Given the description of an element on the screen output the (x, y) to click on. 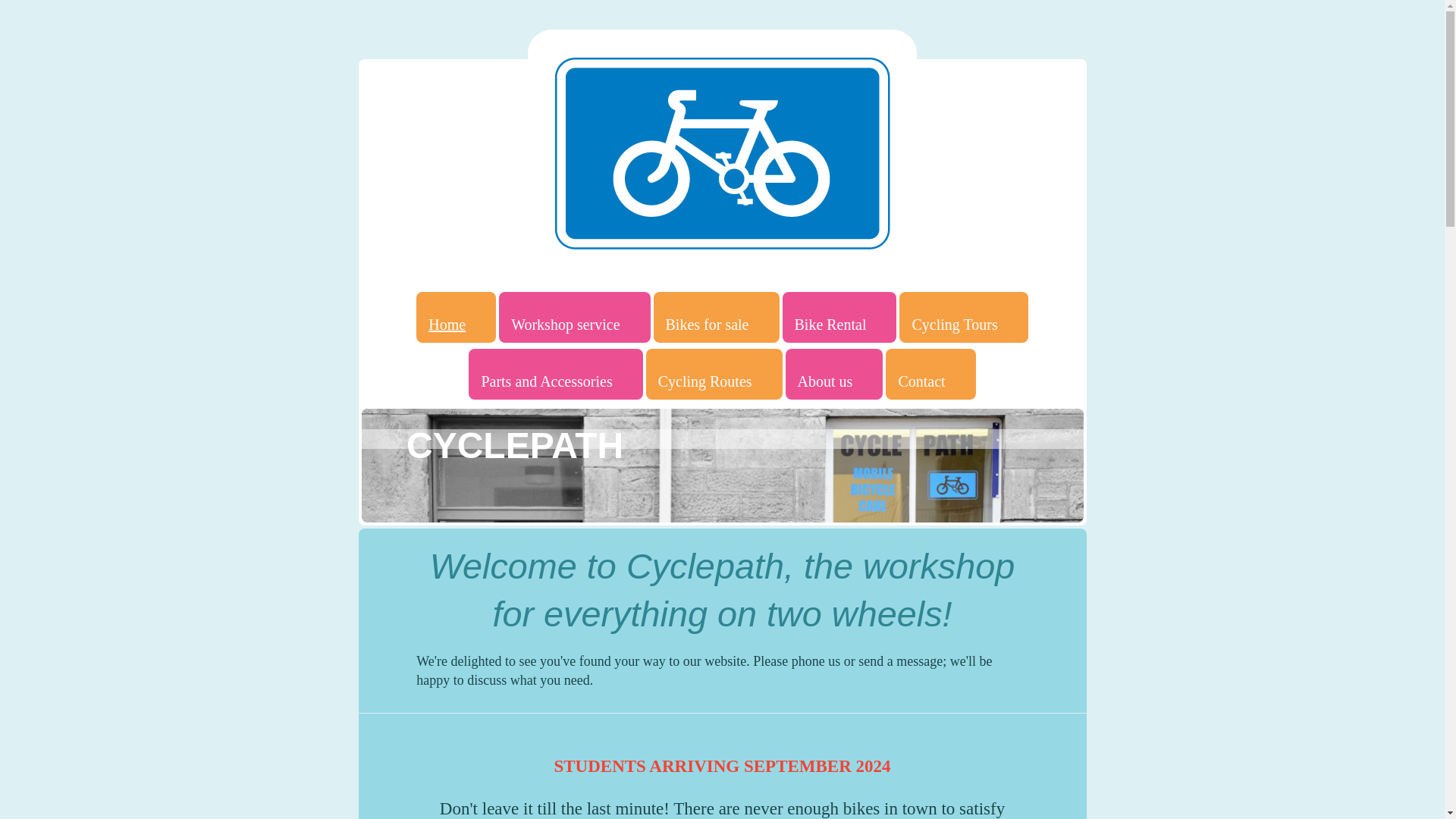
Bikes for sale (715, 317)
Cycling Tours (963, 317)
Parts and Accessories (555, 373)
About us (834, 373)
Home (456, 317)
Cycling Routes (714, 373)
Bike Rental (839, 317)
Workshop service (574, 317)
CYCLEPATH (515, 444)
Contact (930, 373)
